Given the description of an element on the screen output the (x, y) to click on. 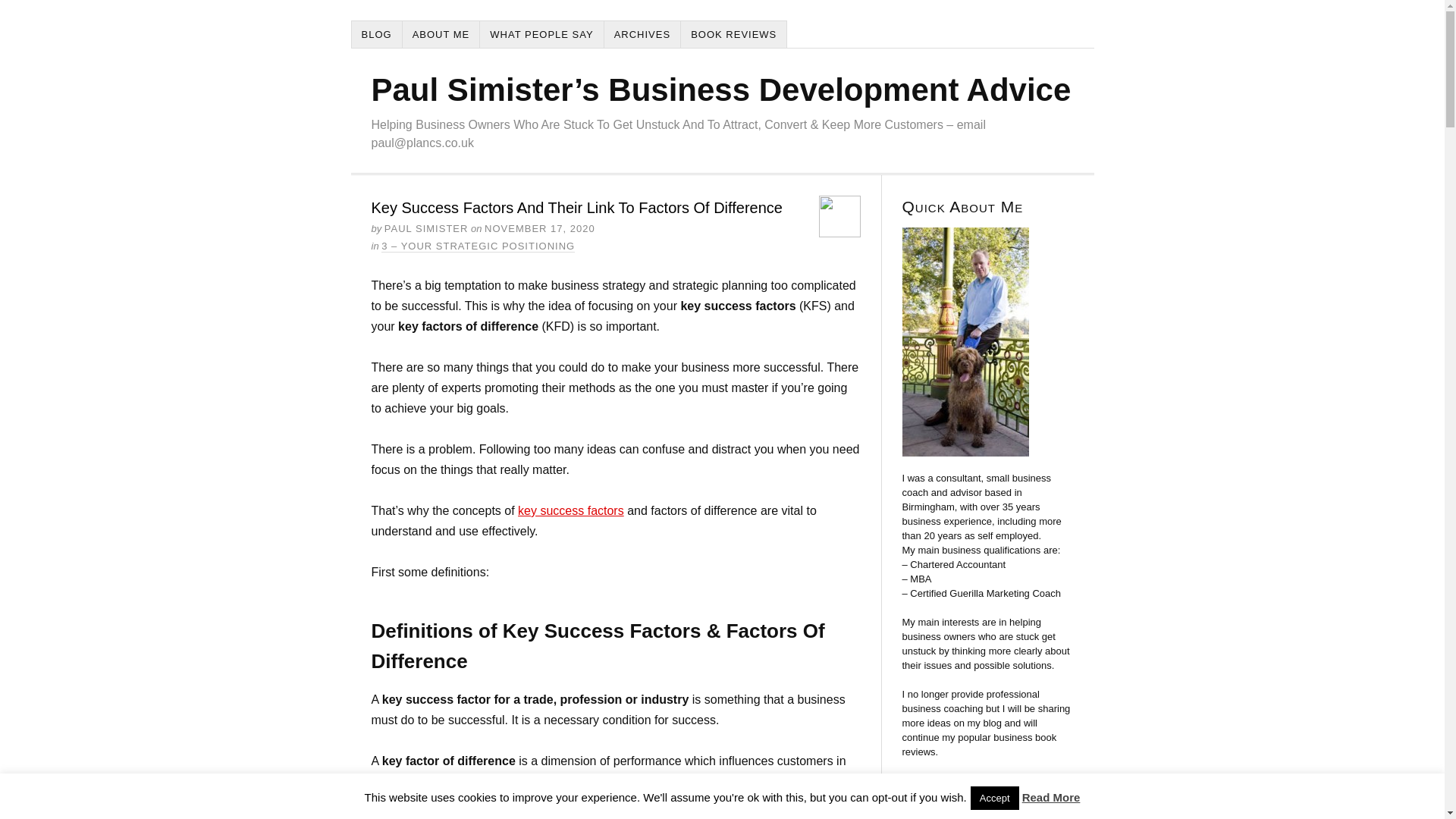
2020-11-17 (539, 228)
key success factors (571, 510)
ABOUT ME (441, 34)
BOOK REVIEWS (734, 34)
BLOG (377, 34)
WHAT PEOPLE SAY (542, 34)
ARCHIVES (642, 34)
